Given the description of an element on the screen output the (x, y) to click on. 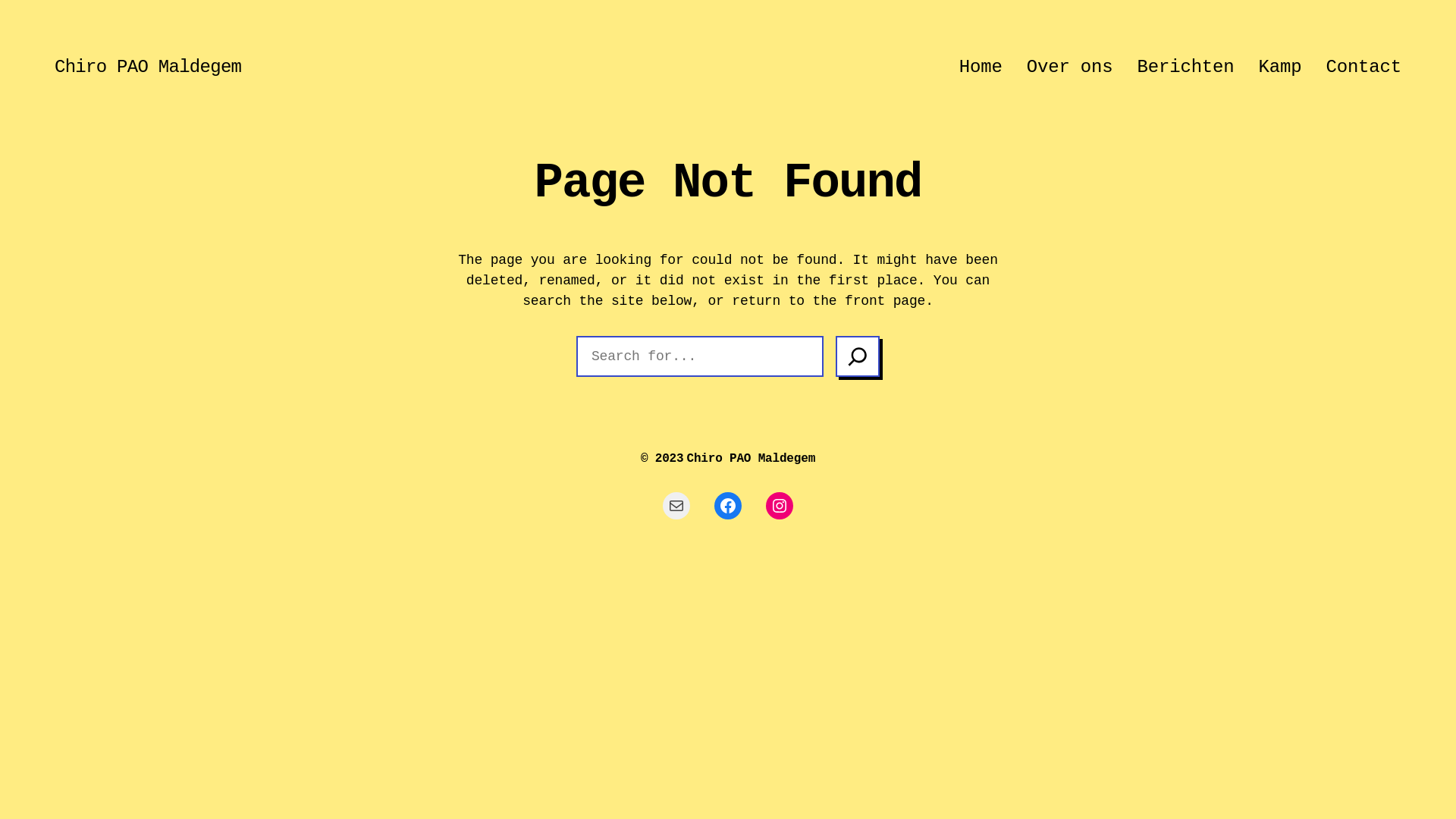
Mail Element type: text (676, 505)
Kamp Element type: text (1280, 67)
Berichten Element type: text (1185, 67)
Instagram Element type: text (779, 505)
Chiro PAO Maldegem Element type: text (750, 458)
Contact Element type: text (1363, 67)
Facebook Element type: text (727, 505)
Chiro PAO Maldegem Element type: text (147, 66)
Over ons Element type: text (1069, 67)
Home Element type: text (980, 67)
